Given the description of an element on the screen output the (x, y) to click on. 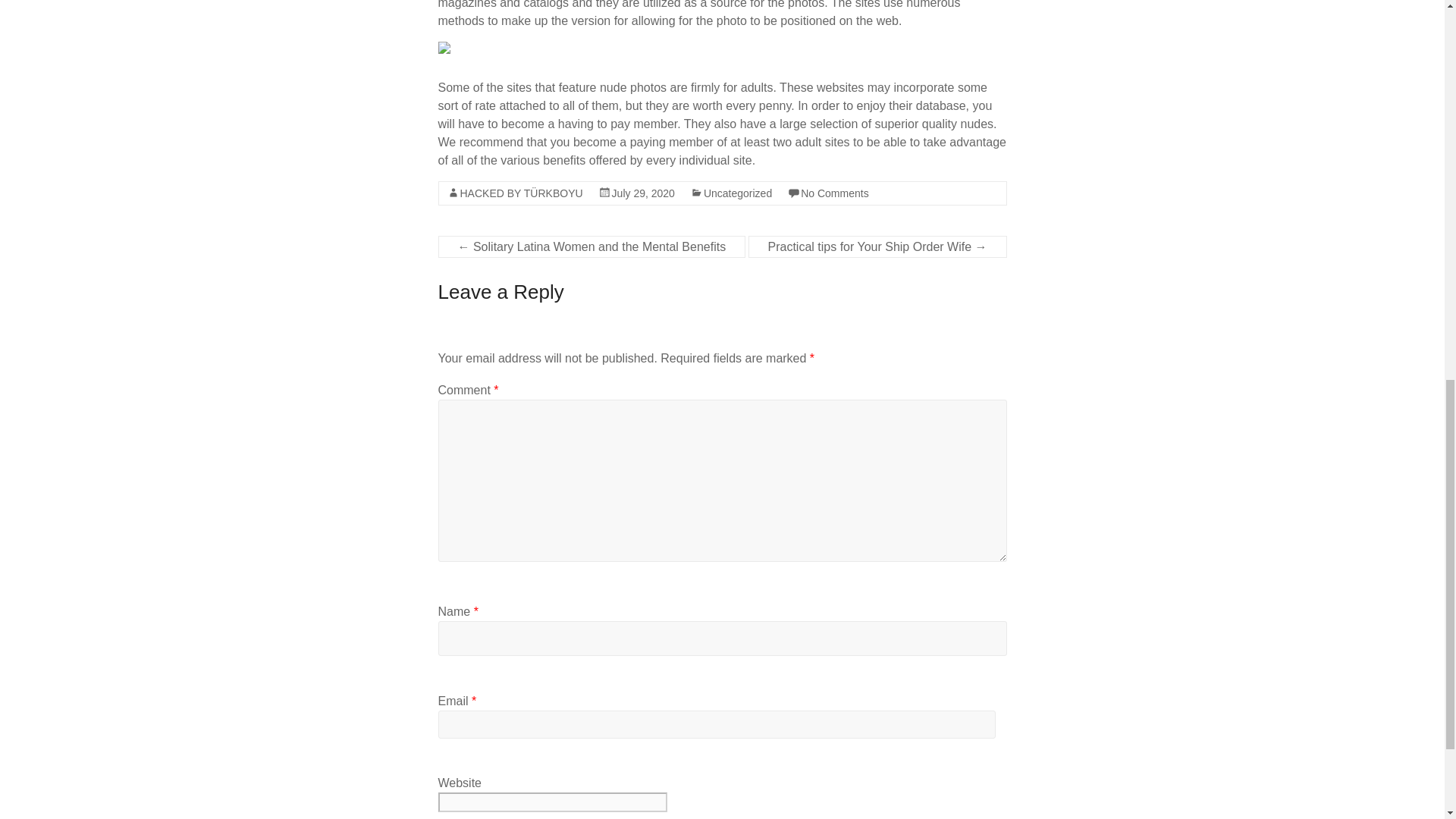
No Comments (833, 193)
July 29, 2020 (643, 193)
12:00 am (643, 193)
Uncategorized (737, 193)
